Given the description of an element on the screen output the (x, y) to click on. 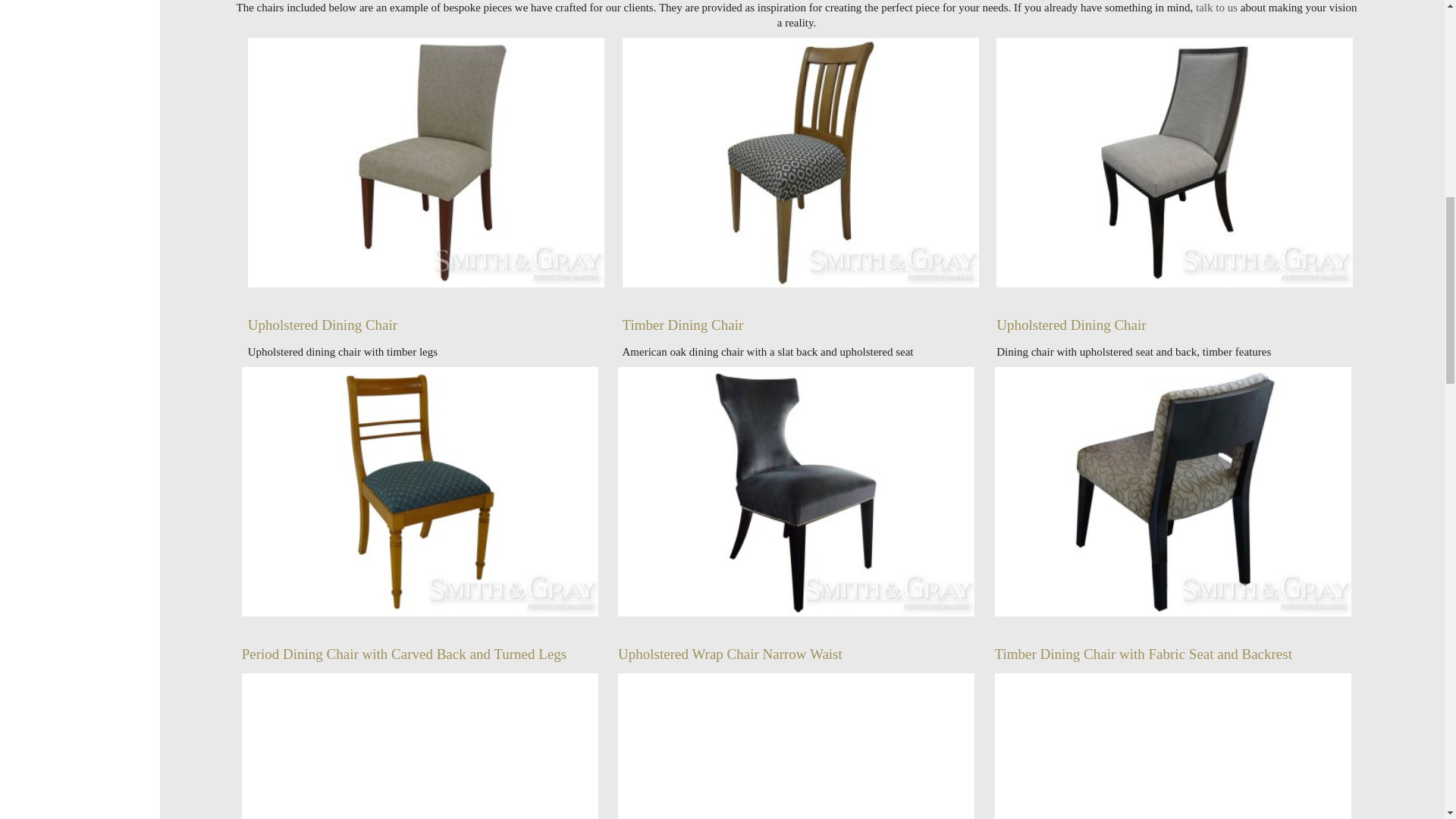
talk to us (1216, 7)
